Given the description of an element on the screen output the (x, y) to click on. 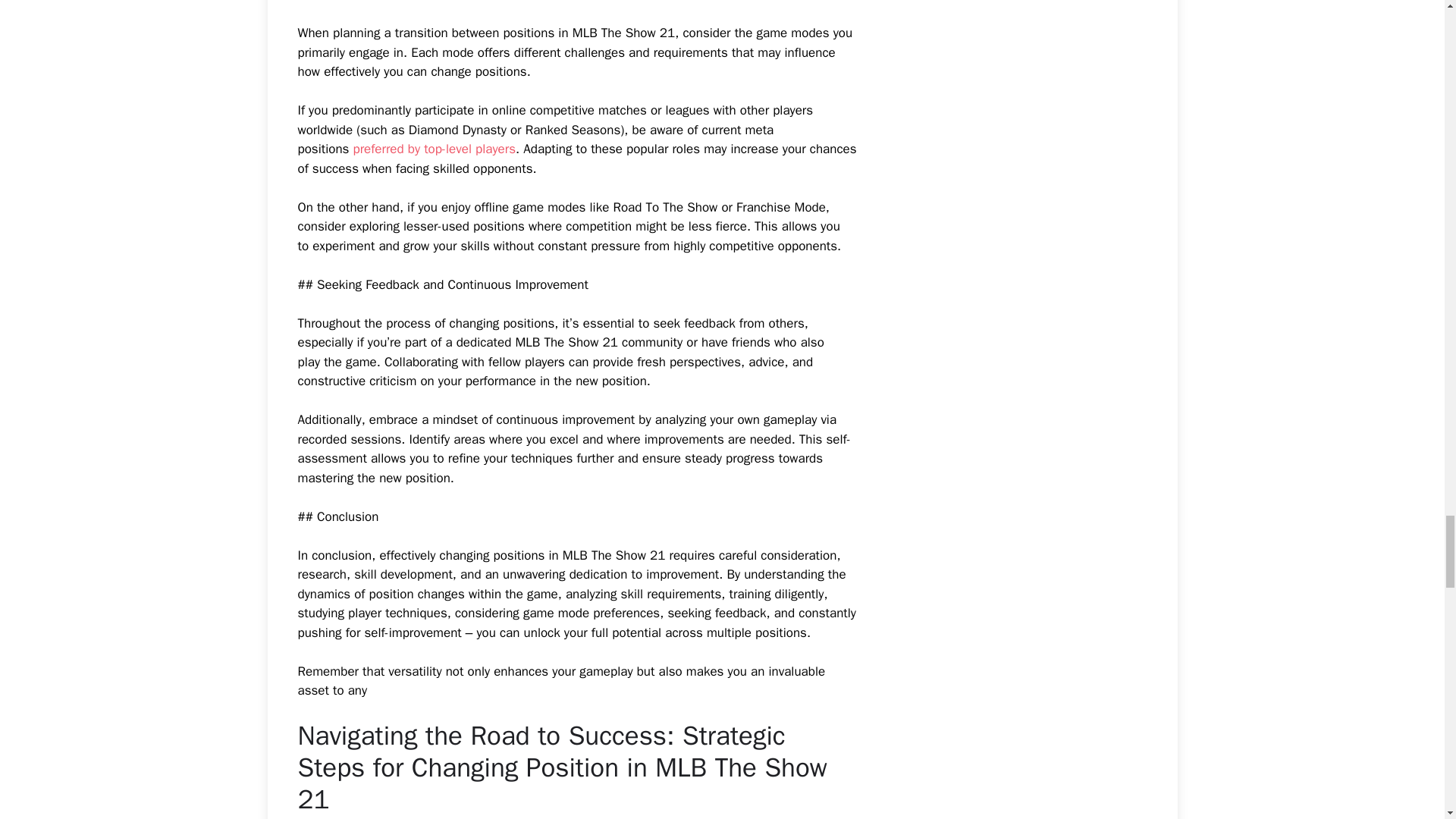
preferred by top-level players (433, 148)
